Given the description of an element on the screen output the (x, y) to click on. 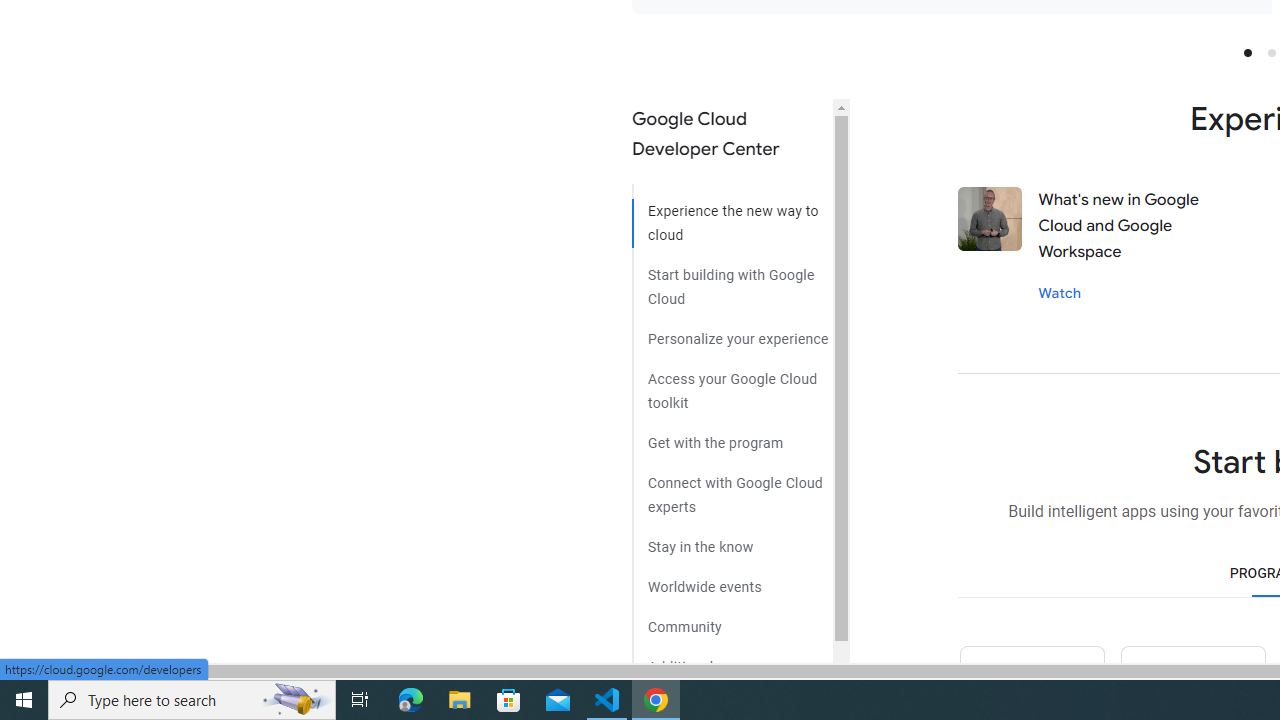
Stay in the know (732, 539)
Community (732, 619)
Worldwide events (732, 579)
Watch (1059, 292)
Access your Google Cloud toolkit (732, 384)
Start building with Google Cloud (732, 279)
Java icon (1192, 682)
Get with the program (732, 435)
Connect with Google Cloud experts (732, 487)
Personalize your experience (732, 331)
Slide 1 (1247, 52)
Python icon (1031, 682)
Additional resources (732, 659)
Experience the new way to cloud (732, 215)
